Given the description of an element on the screen output the (x, y) to click on. 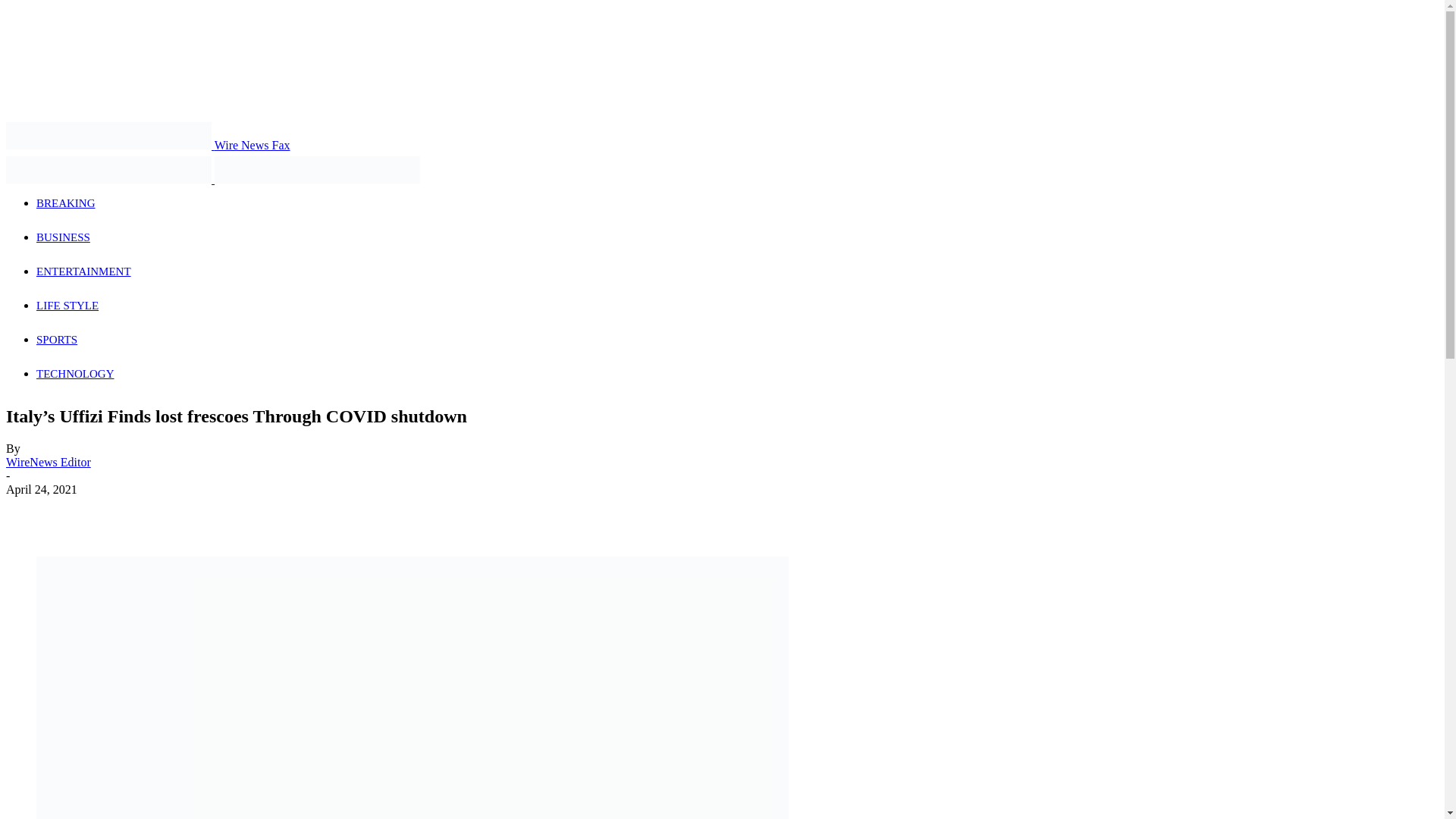
Your Fastest Source for Reliable News (317, 169)
Your Fastest Source for Reliable News (108, 169)
SPORTS (56, 339)
BUSINESS (63, 236)
Your Fastest Source for Reliable News (108, 135)
BREAKING (66, 203)
TECHNOLOGY (75, 373)
Wire News Fax (147, 144)
LIFE STYLE (67, 305)
